Given the description of an element on the screen output the (x, y) to click on. 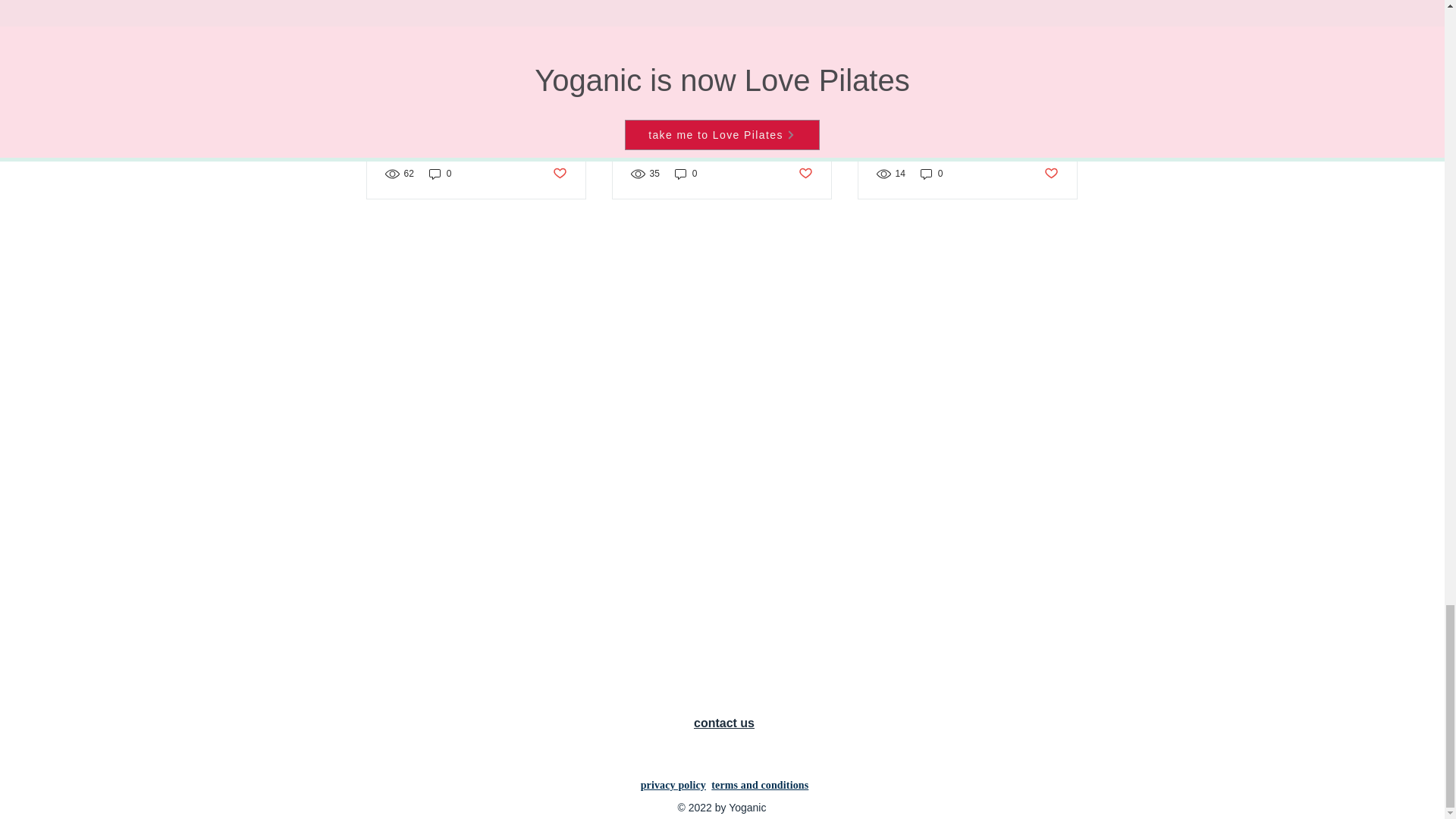
0 (440, 173)
Post not marked as liked (804, 173)
Post not marked as liked (558, 173)
0 (685, 173)
Breaking the mould: Why men should embrace yoga and Pilates (476, 120)
